Given the description of an element on the screen output the (x, y) to click on. 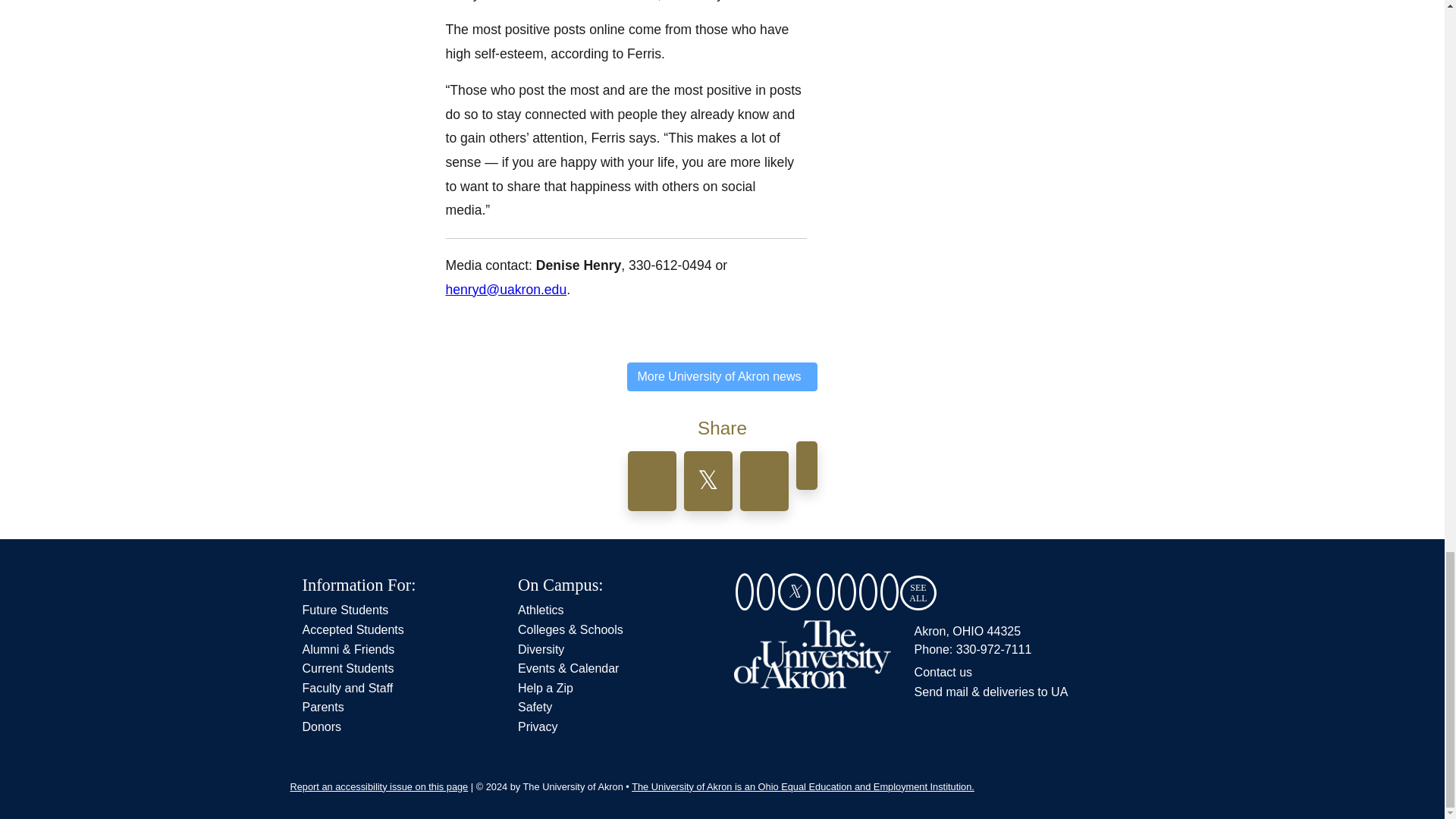
Faculty and Staff (347, 687)
More University of Akron news (721, 376)
Donors (320, 726)
SEE ALL (917, 592)
Current Students (347, 667)
YouTube (846, 593)
Facebook (765, 593)
Twitter (794, 593)
Instagram (825, 593)
LinkedIn (868, 593)
Parents (322, 707)
More University of Akron news (721, 382)
TikTok (889, 593)
Athletics (540, 609)
Accepted Students (352, 629)
